Given the description of an element on the screen output the (x, y) to click on. 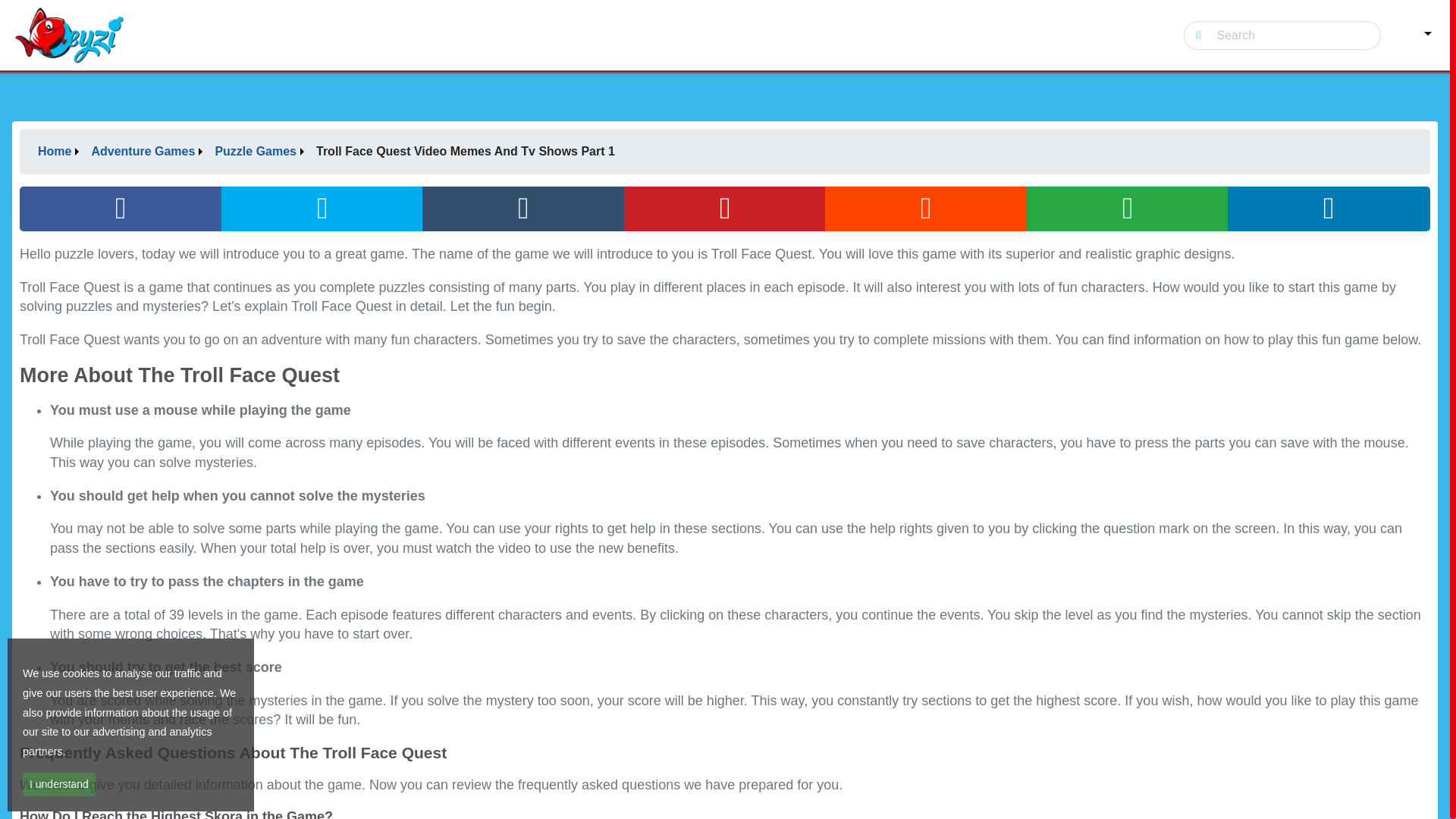
Puzzle Games (259, 151)
Adventure Games (146, 151)
Home (57, 151)
